Given the description of an element on the screen output the (x, y) to click on. 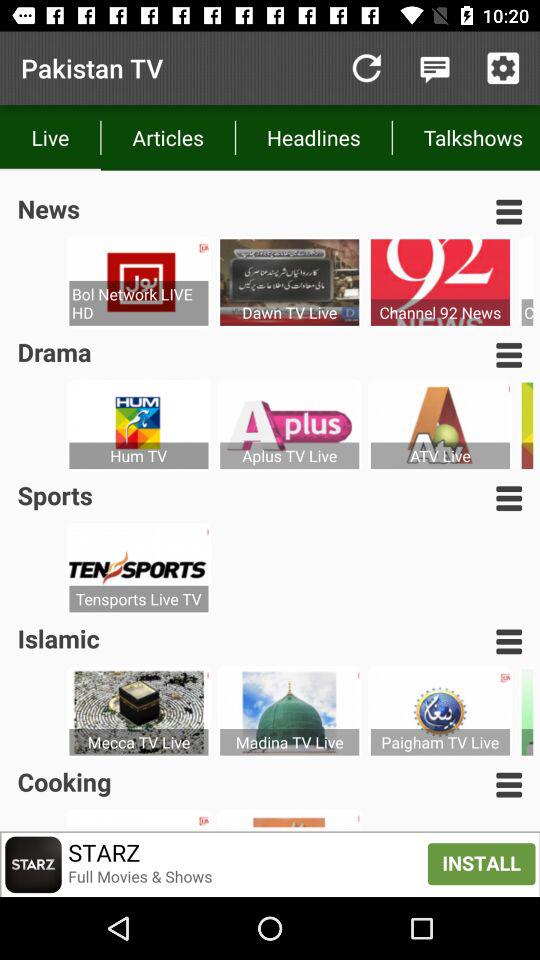
hold and drag to change position (509, 784)
